Given the description of an element on the screen output the (x, y) to click on. 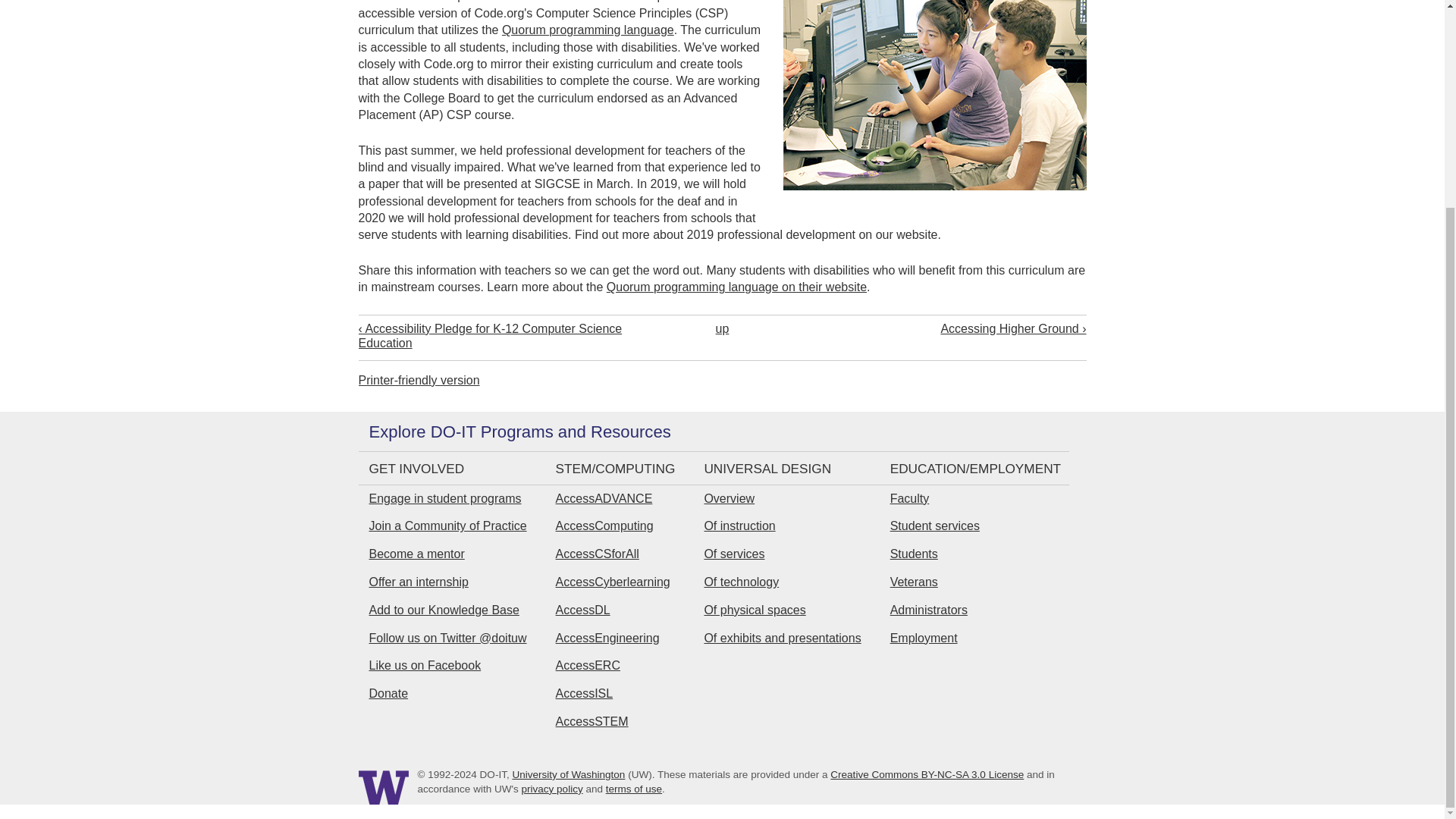
Offer an internship (417, 581)
Go to previous page (503, 335)
Go to parent page (722, 328)
Go to next page (940, 328)
Like us on Facebook (424, 665)
Students work together on a Quorum project. (925, 104)
Quorum programming language (588, 29)
Join a Community of Practice (446, 525)
AccessComputing (604, 525)
Quorum programming language on their website (736, 286)
Become a mentor (416, 553)
Donate (387, 693)
Printer-friendly version (418, 379)
Engage in student programs (444, 498)
